Given the description of an element on the screen output the (x, y) to click on. 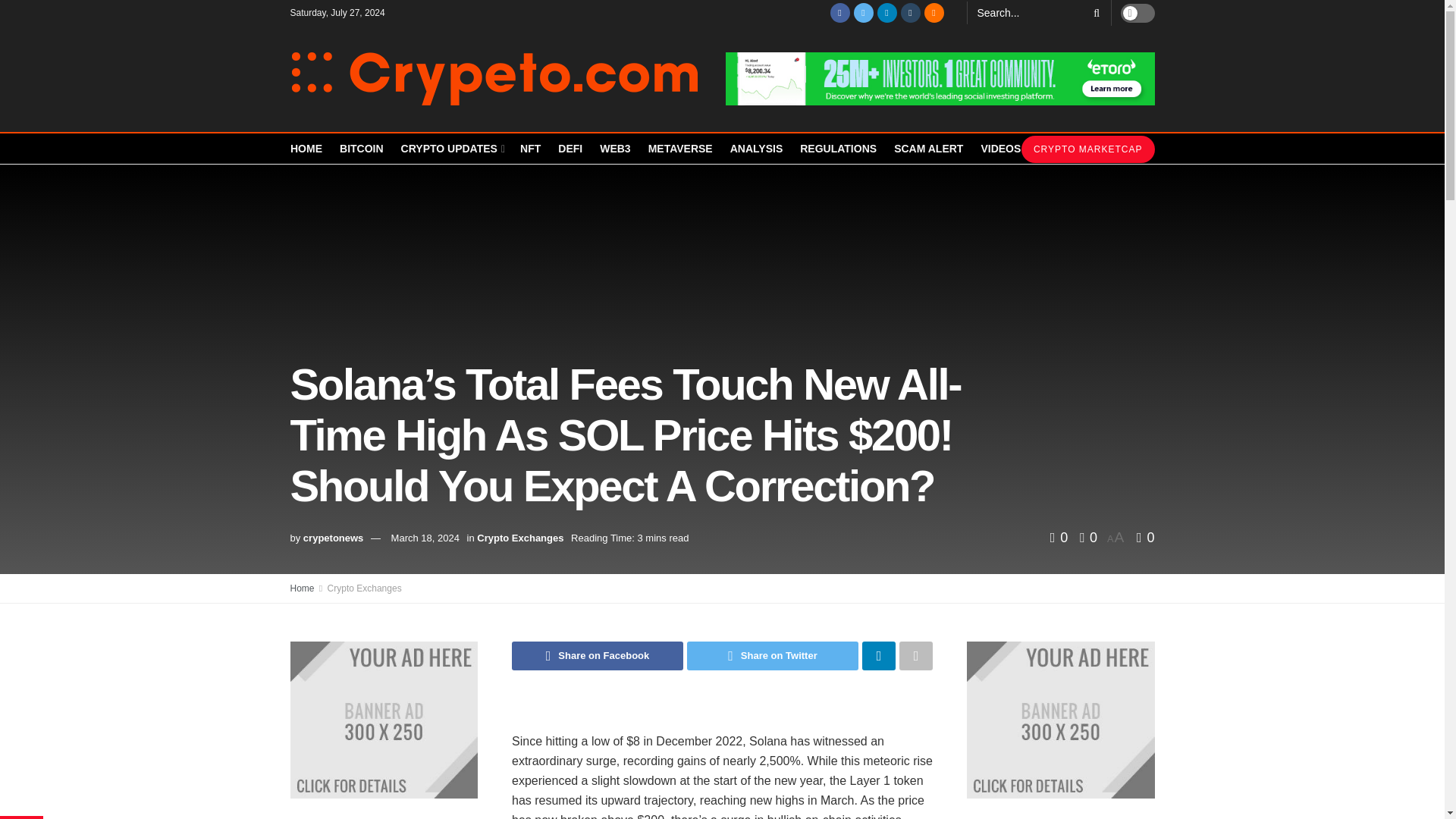
HOME (305, 148)
BITCOIN (361, 148)
METAVERSE (680, 148)
SCAM ALERT (927, 148)
DEFI (569, 148)
CRYPTO UPDATES (451, 148)
ANALYSIS (756, 148)
VIDEOS (999, 148)
CRYPTO MARKETCAP (1088, 148)
REGULATIONS (837, 148)
WEB3 (614, 148)
NFT (529, 148)
